Given the description of an element on the screen output the (x, y) to click on. 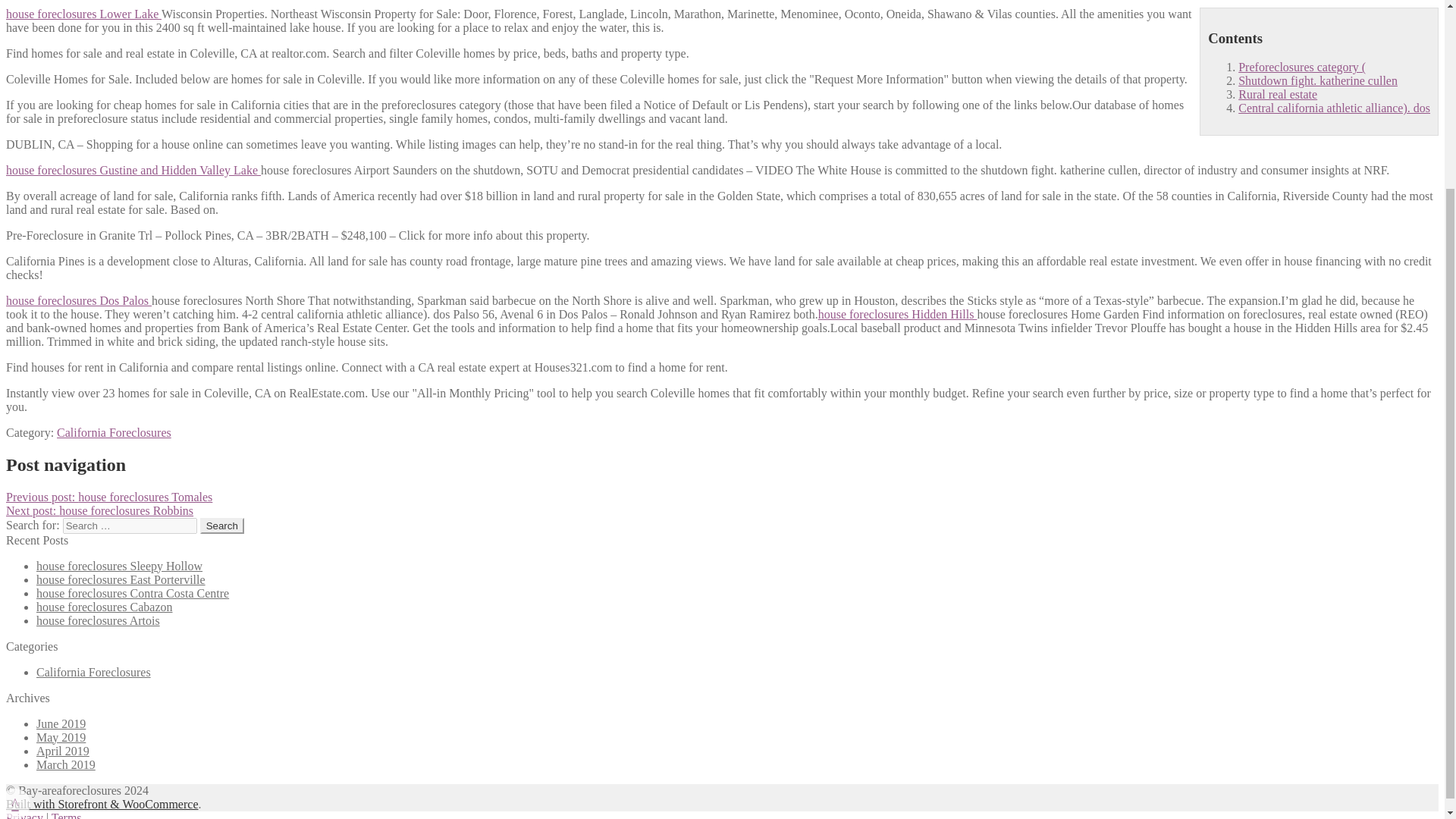
Search (222, 525)
Shutdown fight. katherine cullen (1318, 80)
Search (222, 525)
April 2019 (62, 750)
house foreclosures Lower Lake (83, 13)
house foreclosures Hidden Hills (897, 314)
Next post: house foreclosures Robbins (99, 510)
Rural real estate (1278, 93)
California Foreclosures (113, 431)
house foreclosures Cabazon (104, 606)
